Given the description of an element on the screen output the (x, y) to click on. 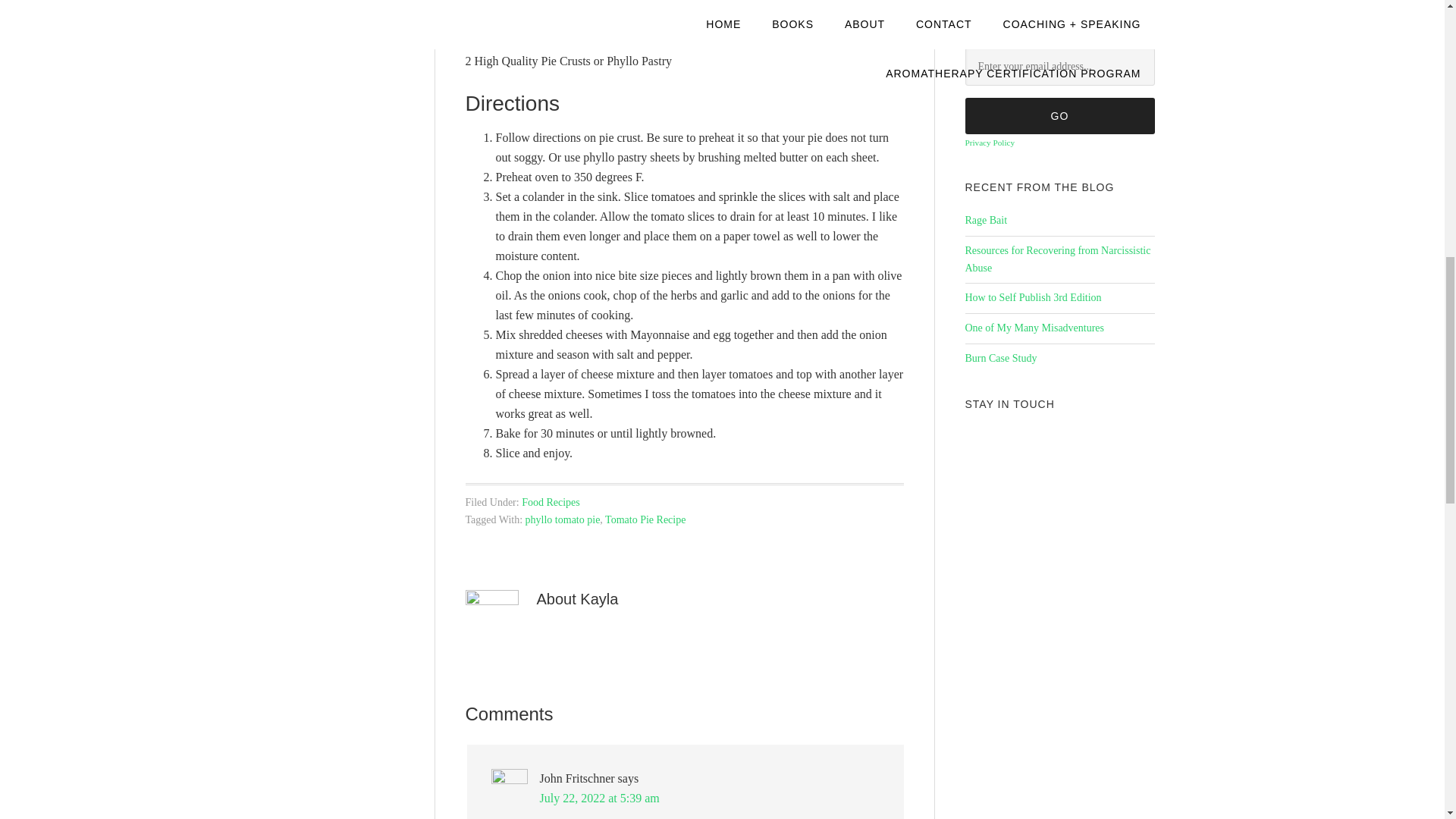
Tomato Pie Recipe (645, 519)
Resources for Recovering from Narcissistic Abuse (1056, 258)
How to Self Publish 3rd Edition (1031, 297)
phyllo tomato pie (562, 519)
Rage Bait (985, 220)
One of My Many Misadventures (1033, 327)
Food Recipes (550, 501)
Go (1058, 115)
Burn Case Study (999, 357)
July 22, 2022 at 5:39 am (599, 797)
